Given the description of an element on the screen output the (x, y) to click on. 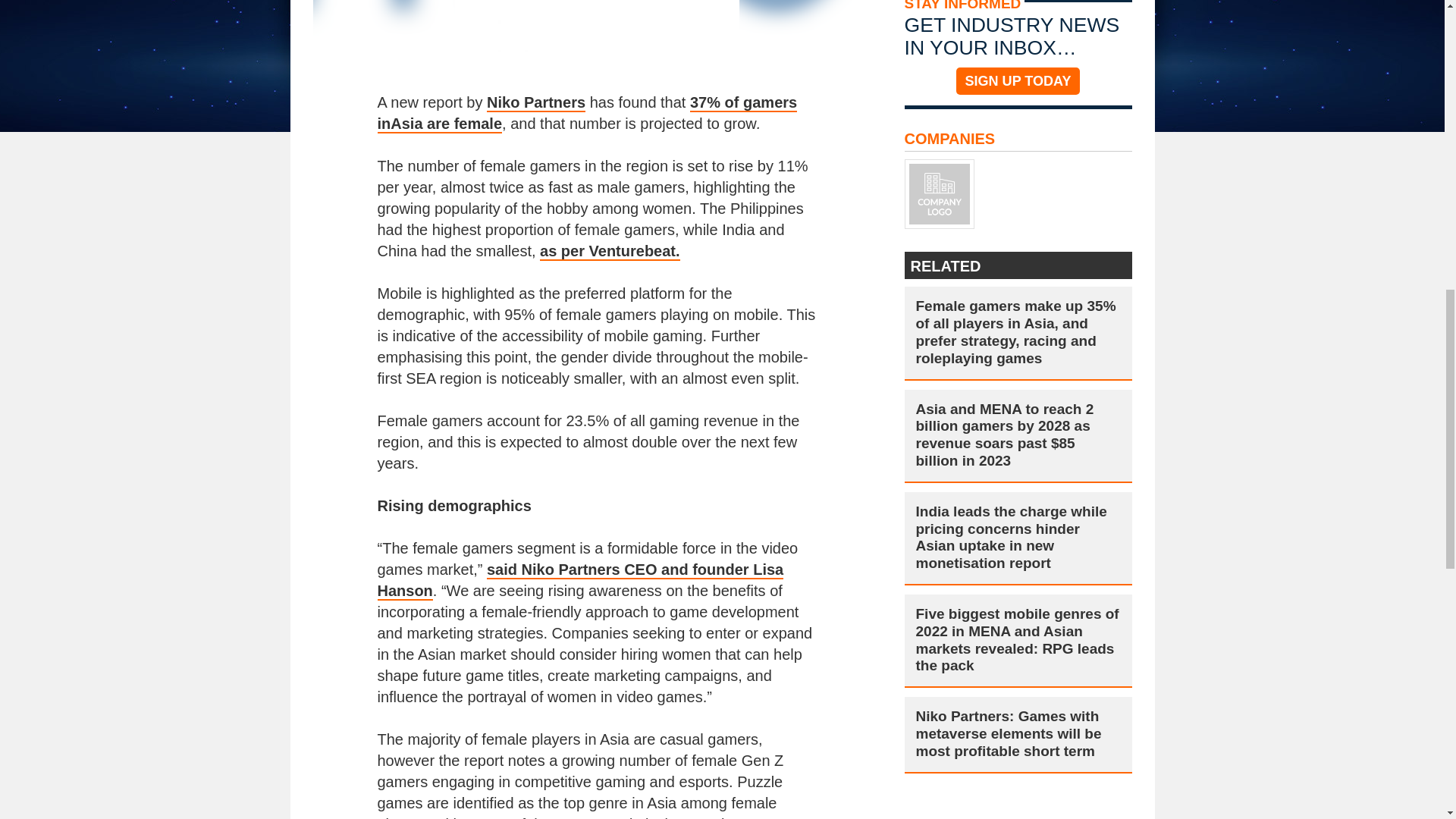
Niko Partners (535, 103)
said Niko Partners CEO and founder Lisa Hanson (580, 580)
as per Venturebeat. (609, 251)
